Given the description of an element on the screen output the (x, y) to click on. 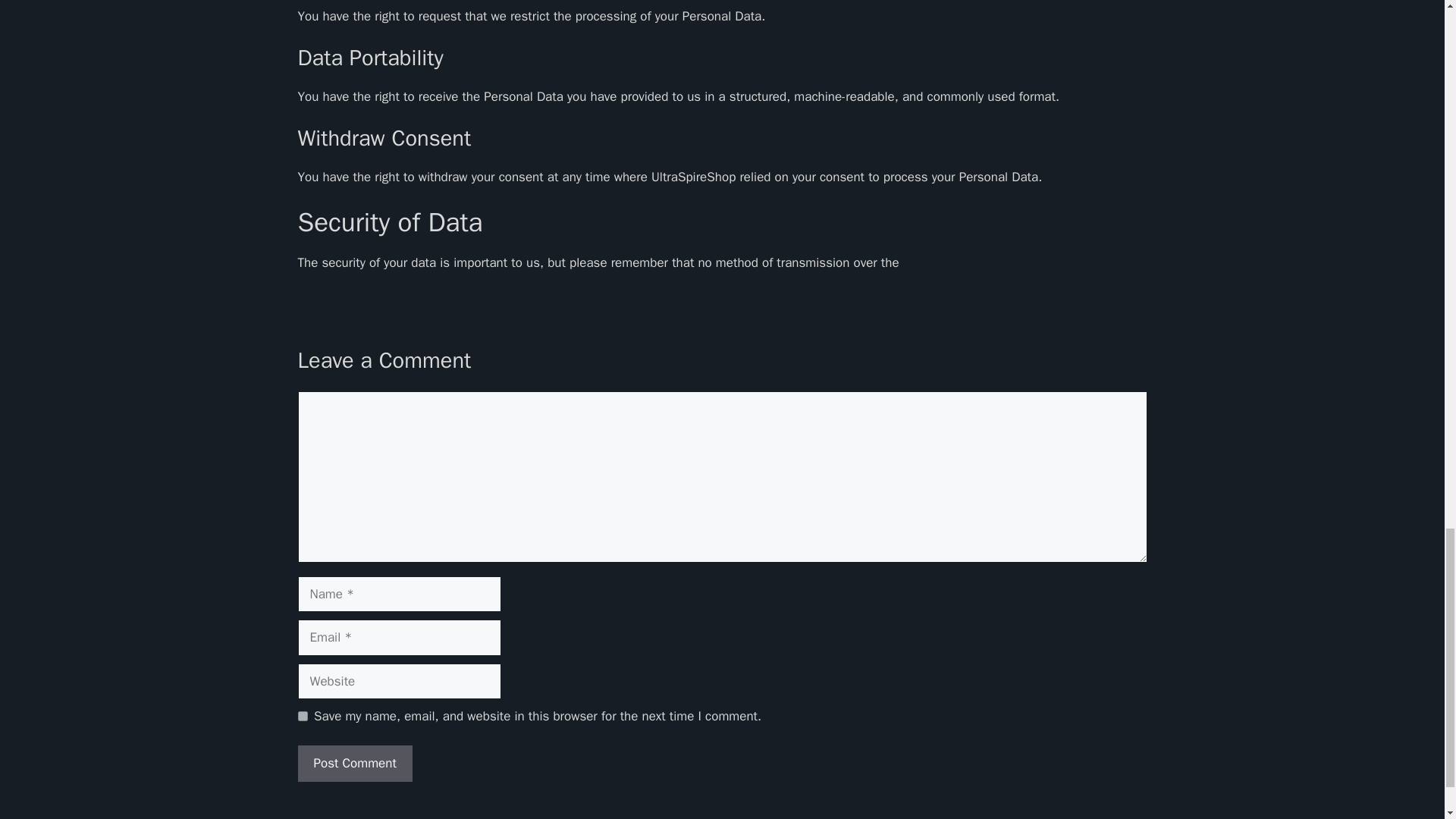
Post Comment (354, 763)
Post Comment (354, 763)
yes (302, 716)
